Given the description of an element on the screen output the (x, y) to click on. 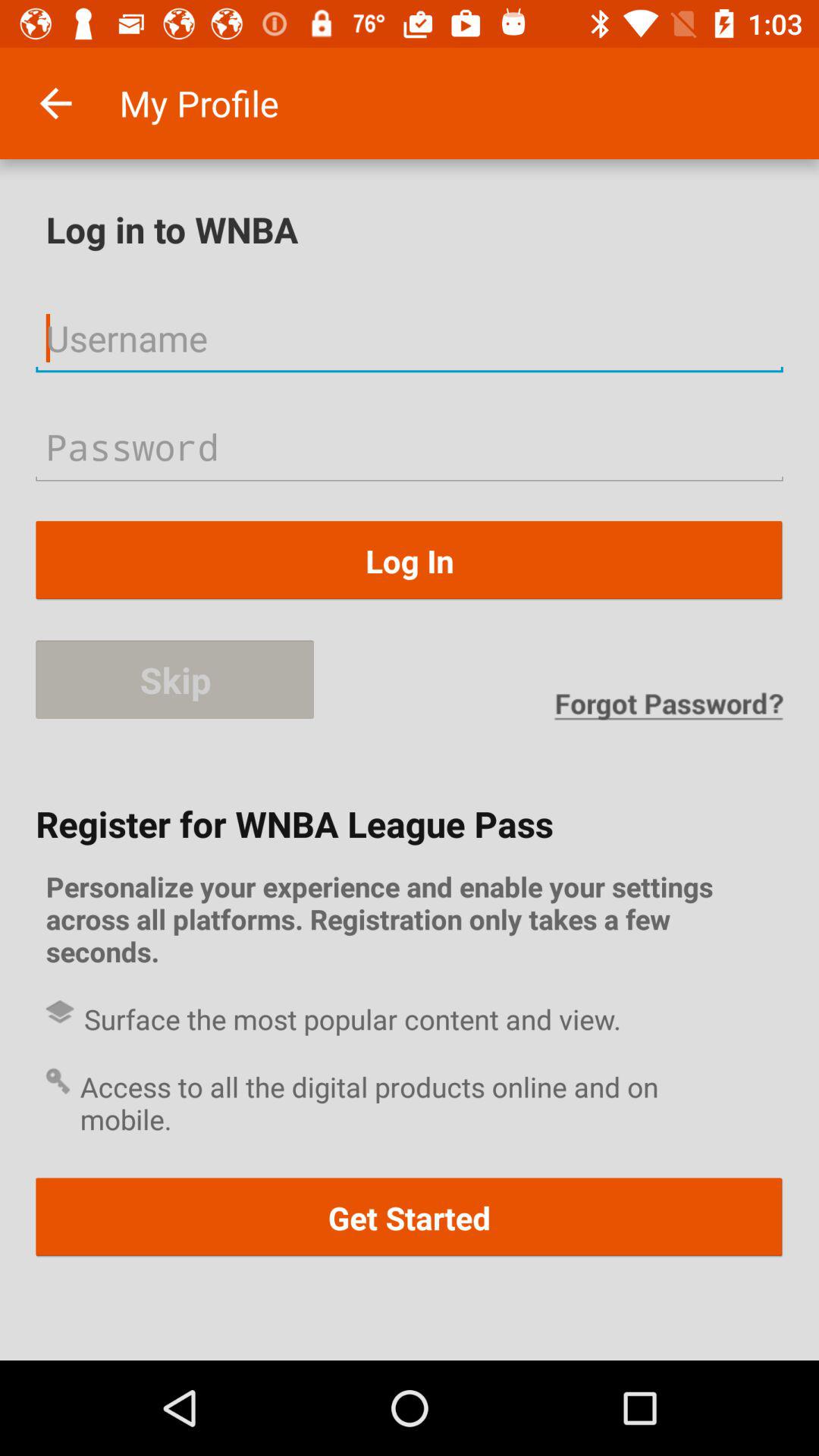
forgot password (668, 706)
